Given the description of an element on the screen output the (x, y) to click on. 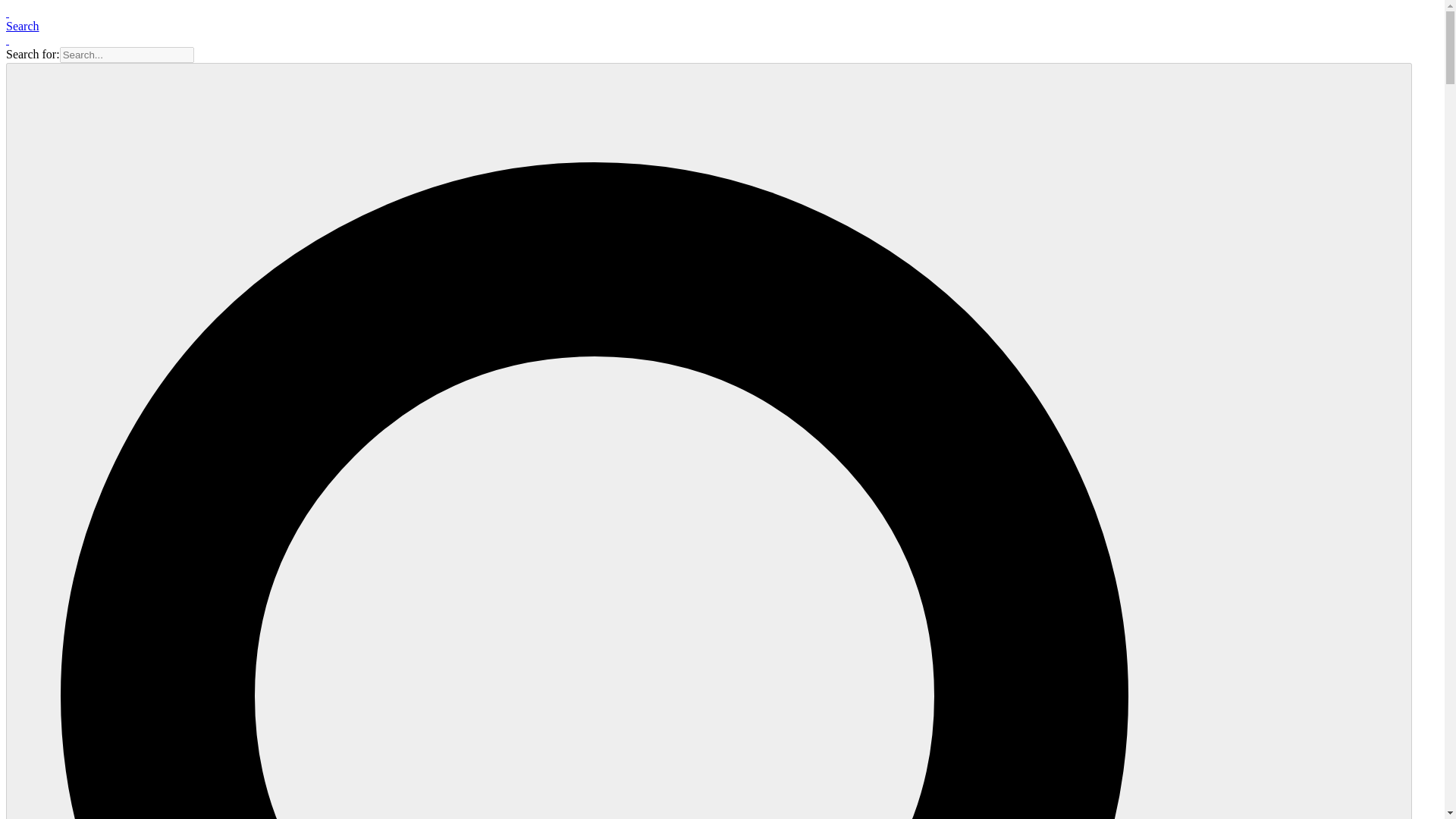
Search (22, 25)
Search for: (126, 54)
